Given the description of an element on the screen output the (x, y) to click on. 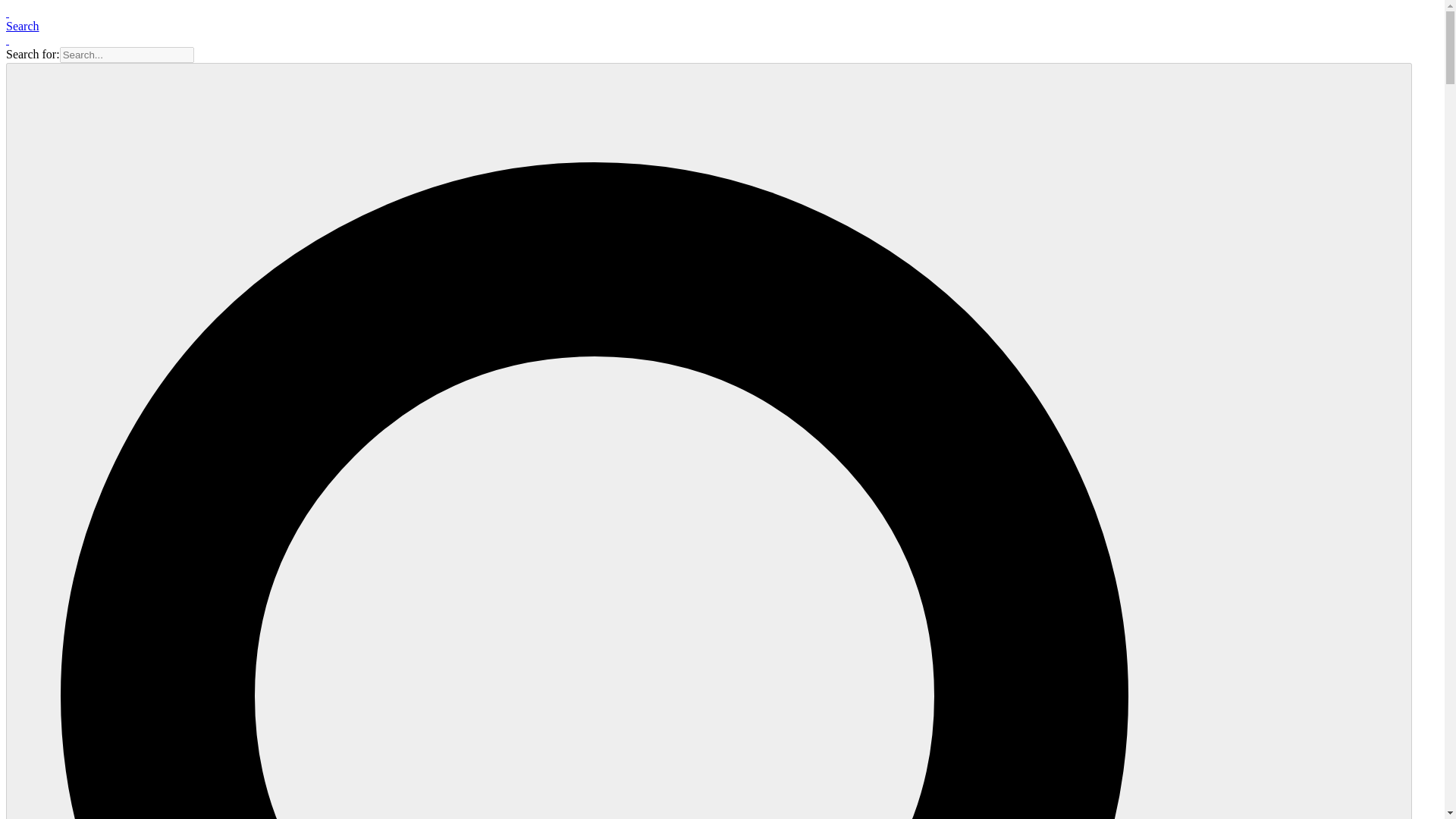
Search (22, 25)
Search for: (126, 54)
